Given the description of an element on the screen output the (x, y) to click on. 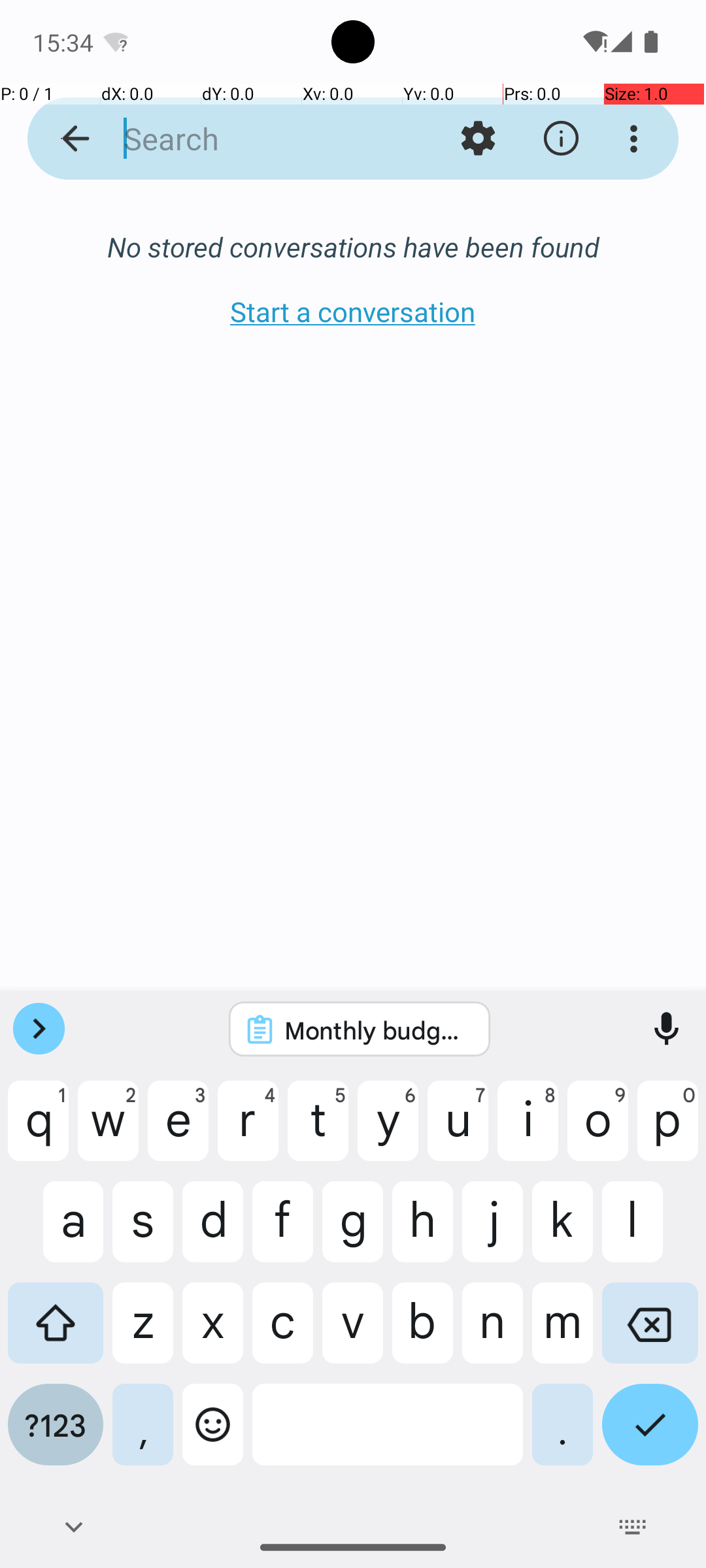
Monthly budget meeting pushed to Friday. Element type: android.widget.TextView (376, 1029)
